Given the description of an element on the screen output the (x, y) to click on. 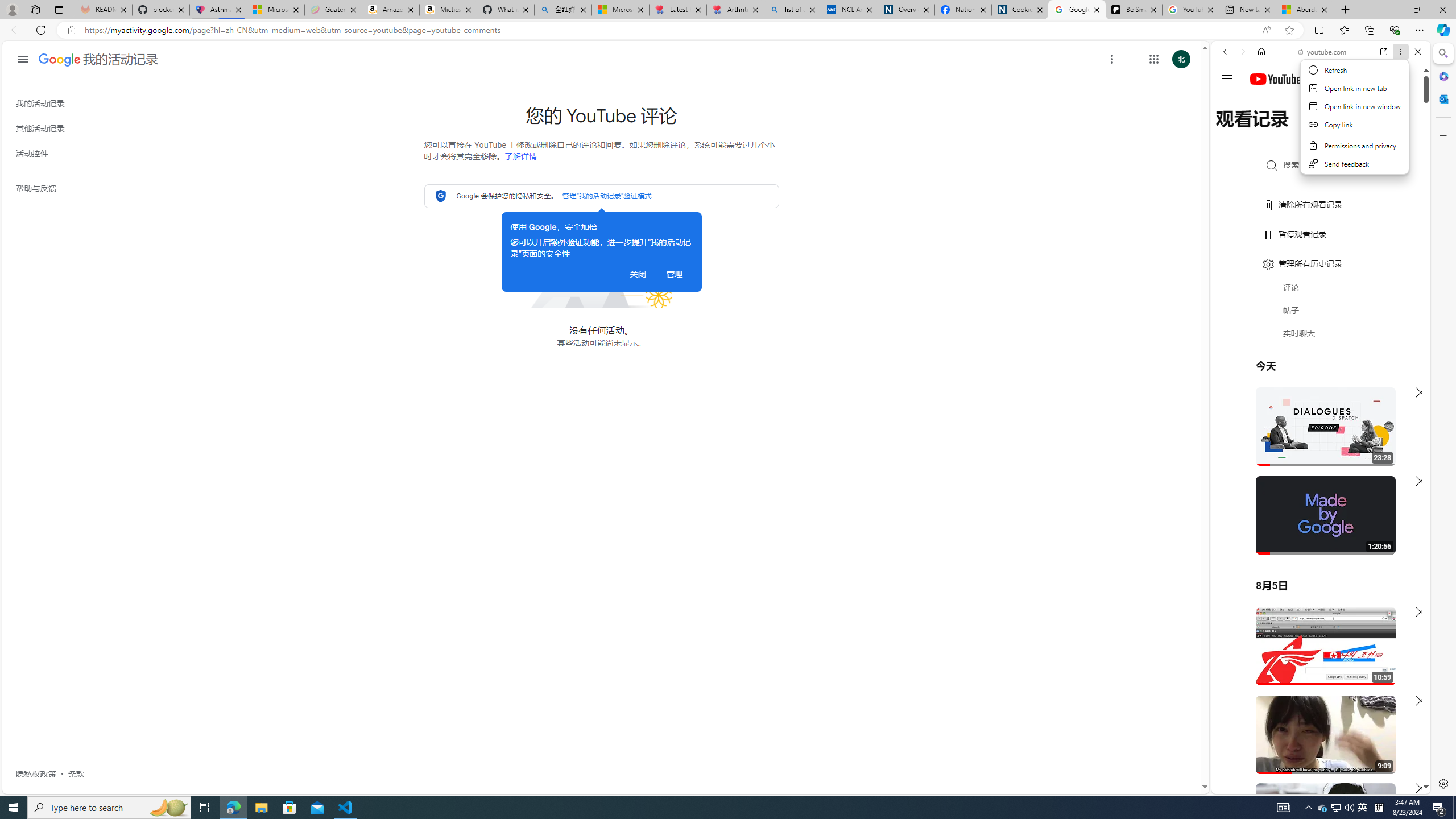
Send feedback (1354, 163)
Copy link (1354, 124)
US[ju] (1249, 785)
Class: Xviznc NMm5M (1111, 59)
Open link in new tab (1354, 88)
list of asthma inhalers uk - Search (791, 9)
Class: dict_pnIcon rms_img (1312, 784)
Global web icon (1232, 655)
